Given the description of an element on the screen output the (x, y) to click on. 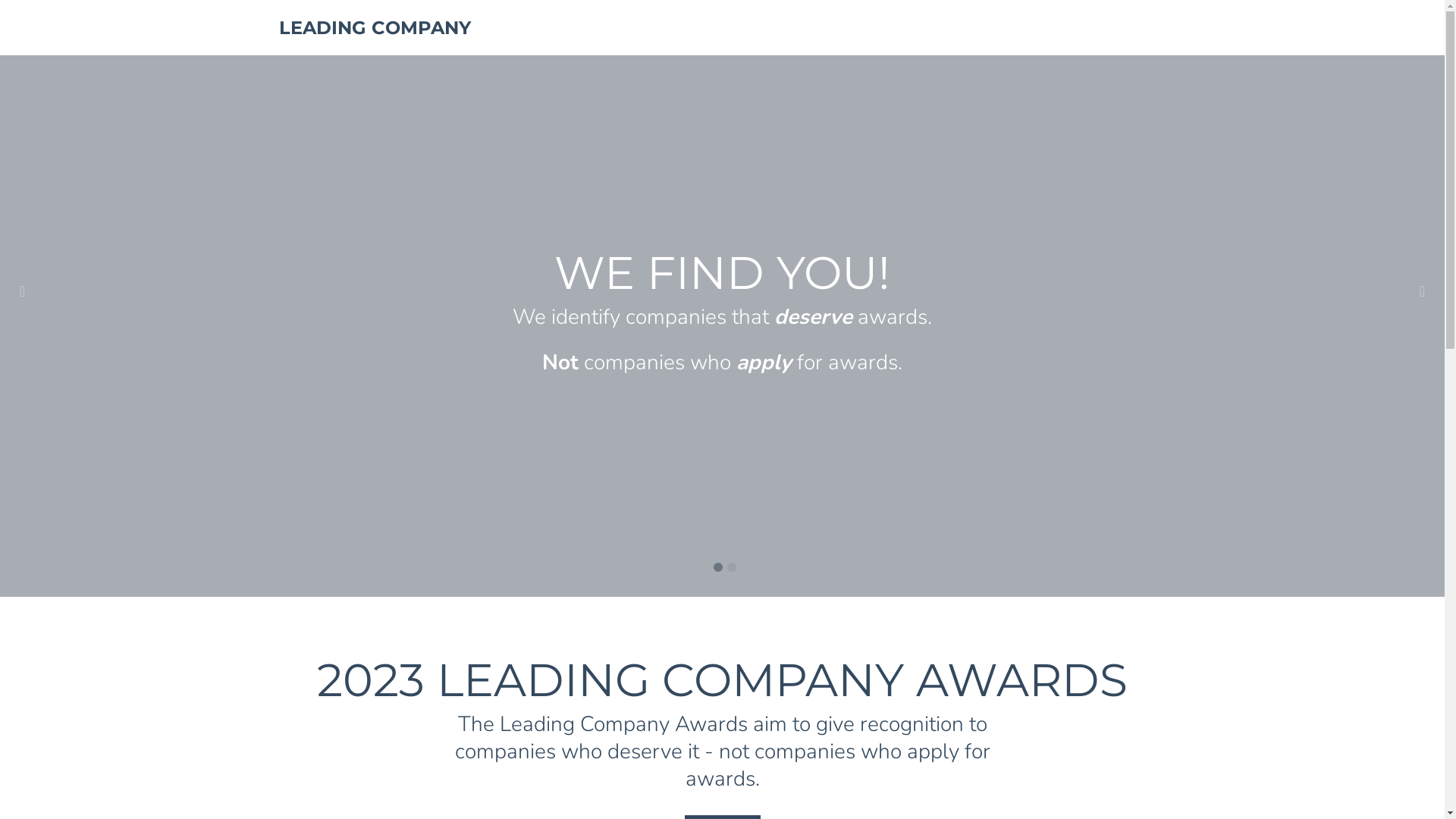
LEADING COMPANY Element type: text (374, 27)
